Given the description of an element on the screen output the (x, y) to click on. 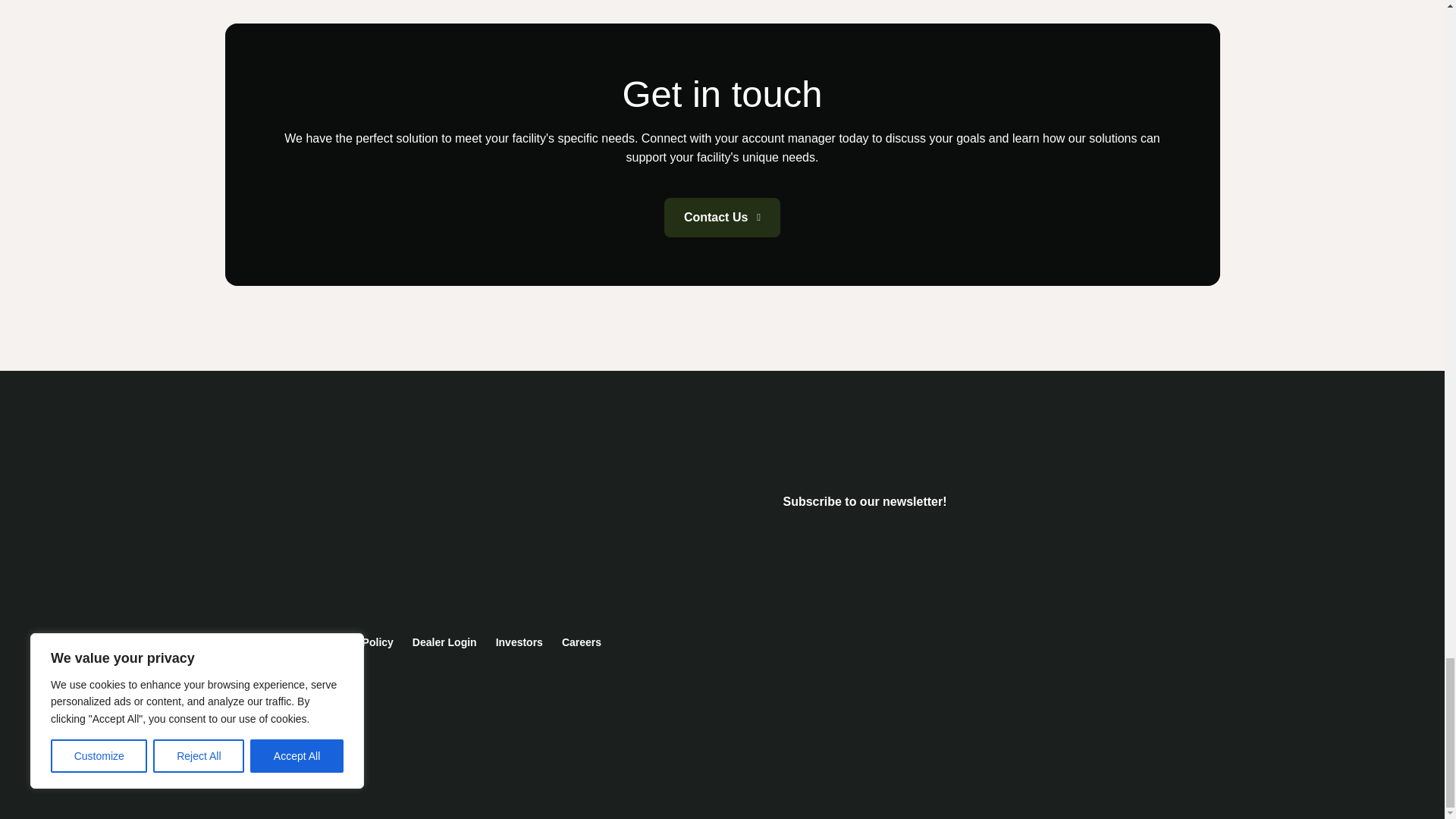
Savaria Logo (337, 549)
